Given the description of an element on the screen output the (x, y) to click on. 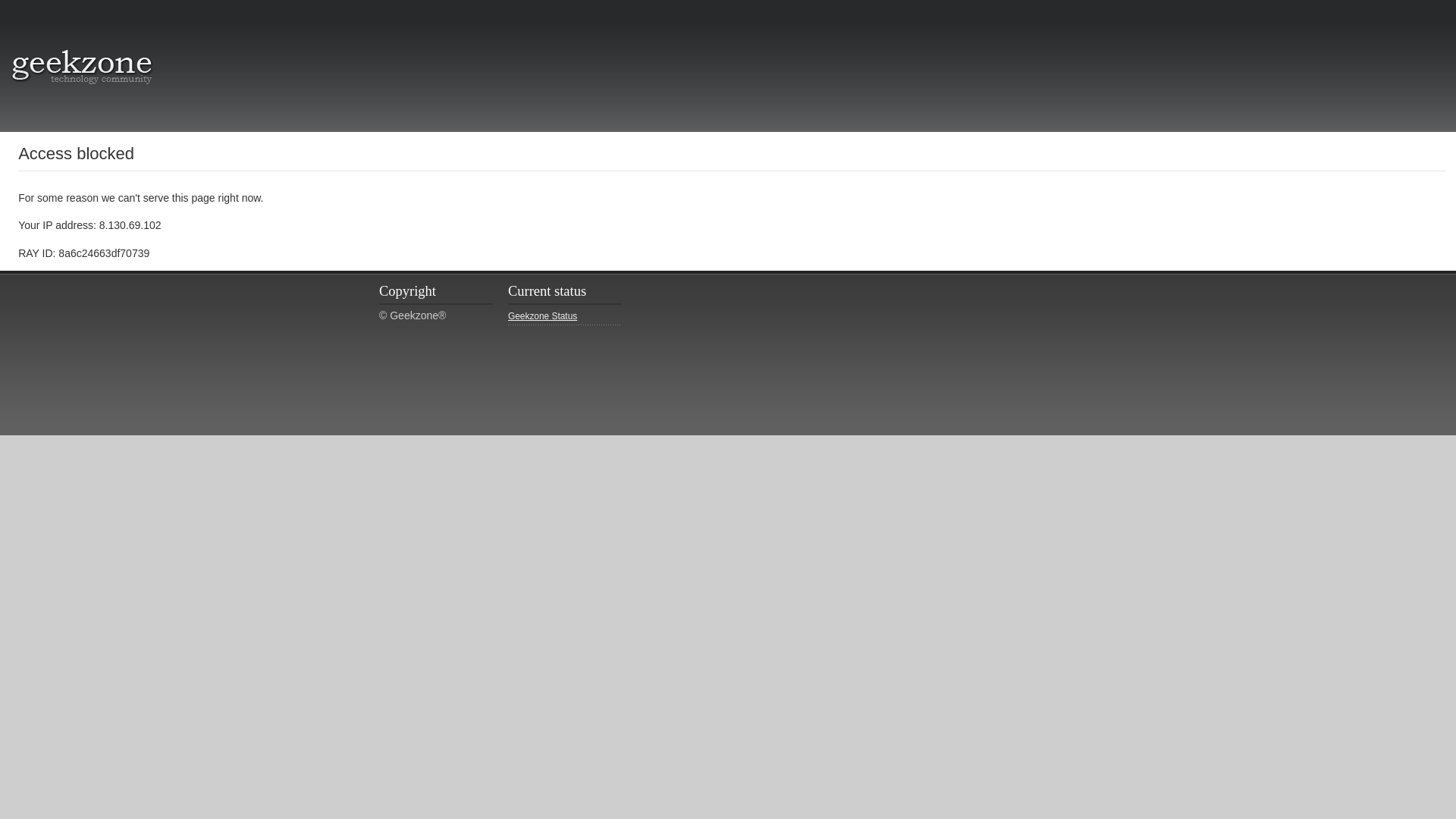
Geekzone Status (564, 316)
